Given the description of an element on the screen output the (x, y) to click on. 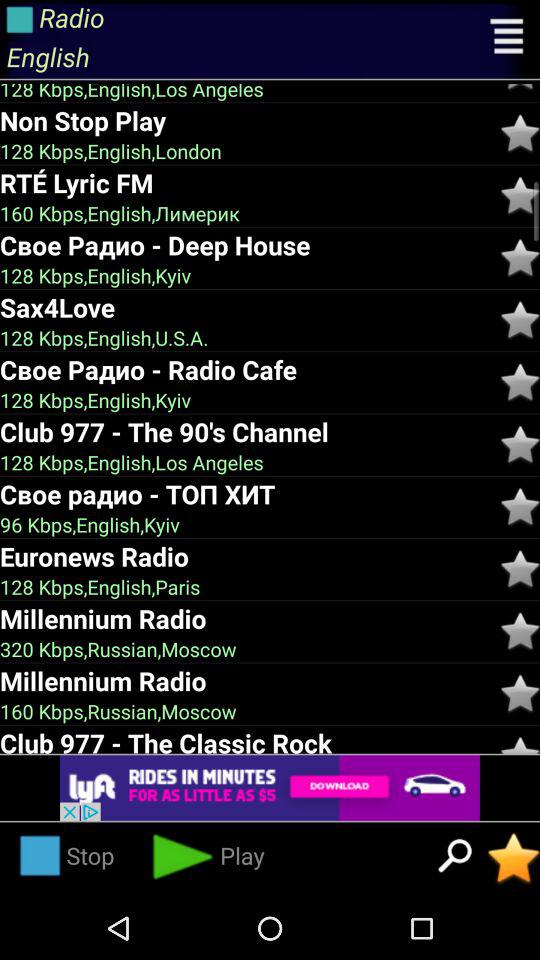
choose to save as favorite (520, 506)
